Given the description of an element on the screen output the (x, y) to click on. 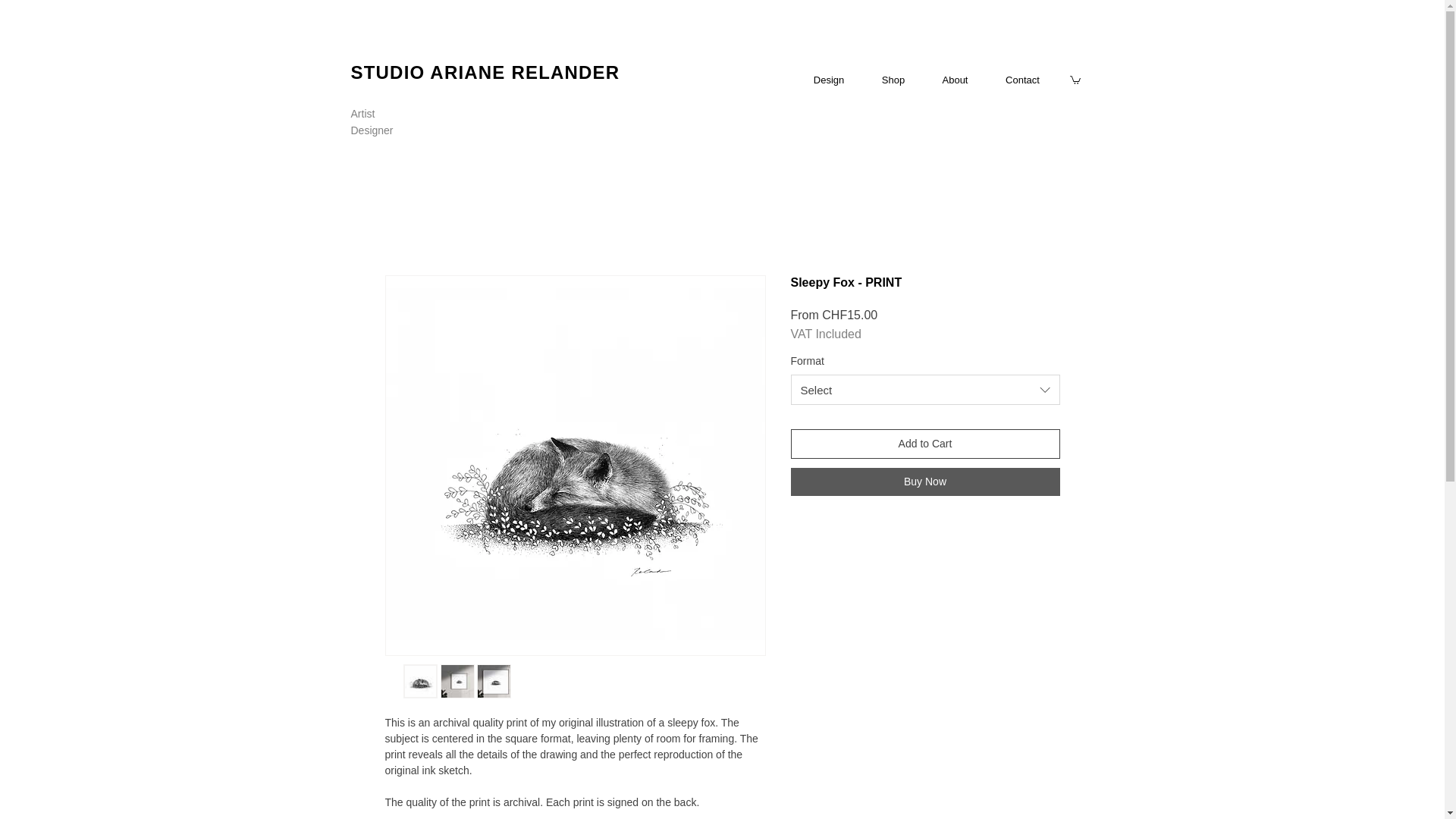
Shop (893, 80)
Select (924, 389)
Buy Now (924, 481)
STUDIO ARIANE RELANDER (485, 72)
Design (828, 80)
Contact (1022, 80)
Add to Cart (924, 443)
About (955, 80)
